Given the description of an element on the screen output the (x, y) to click on. 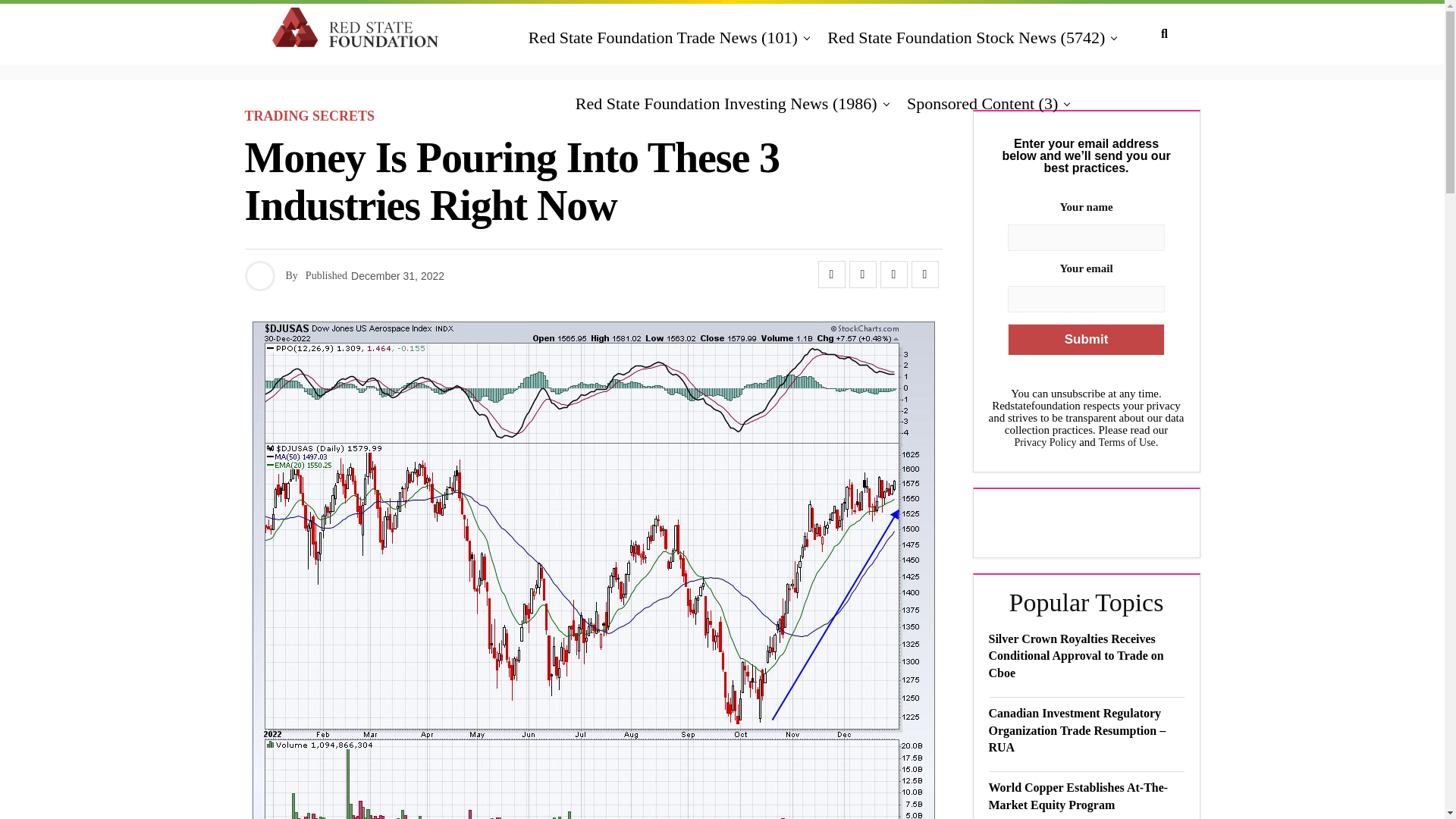
TRADING SECRETS (309, 115)
Share on Facebook (830, 274)
Tweet This Post (862, 274)
Submit (1085, 339)
Privacy Policy (1044, 441)
Submit (1085, 339)
